Given the description of an element on the screen output the (x, y) to click on. 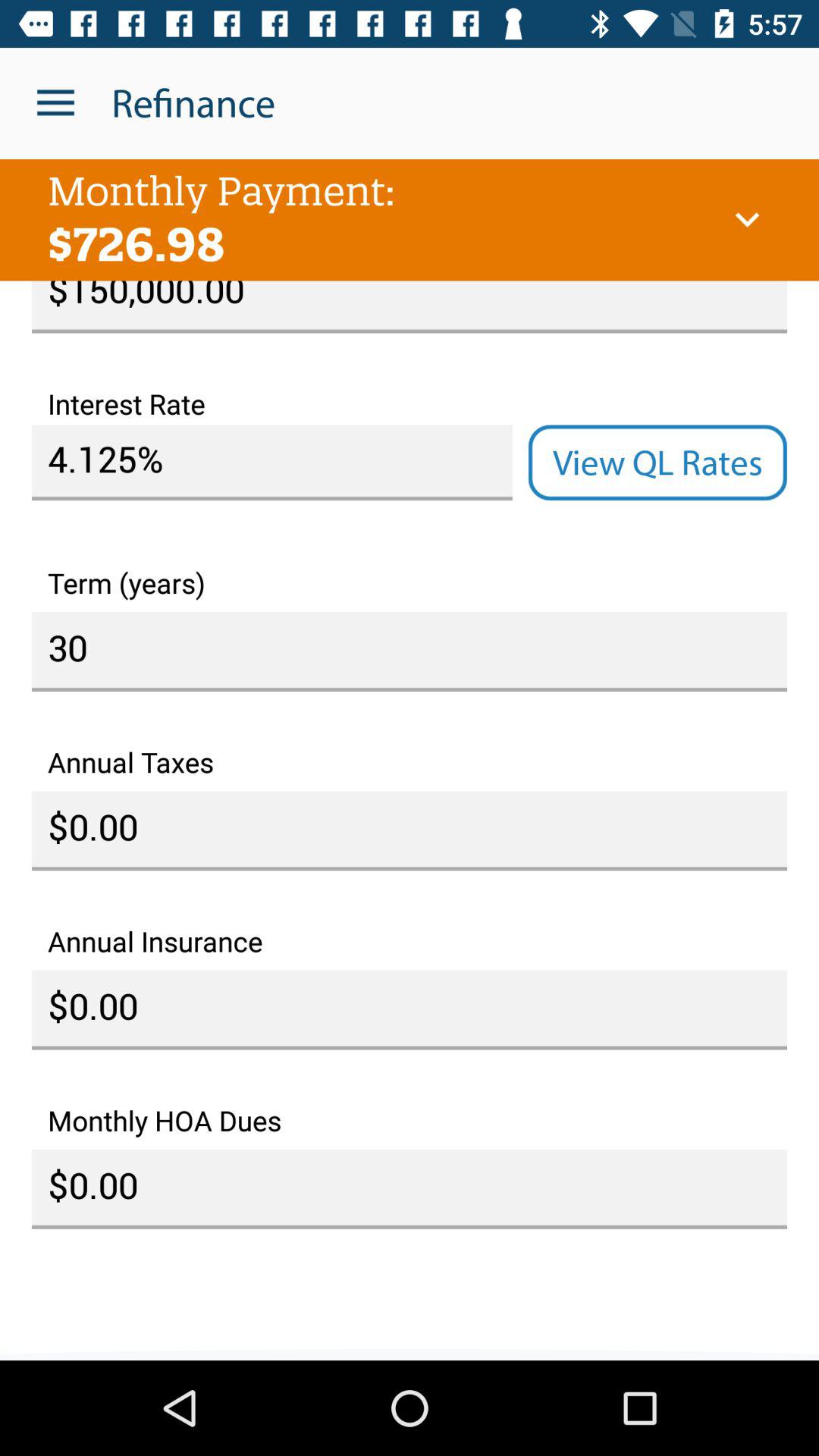
press item next to view ql rates icon (271, 462)
